Given the description of an element on the screen output the (x, y) to click on. 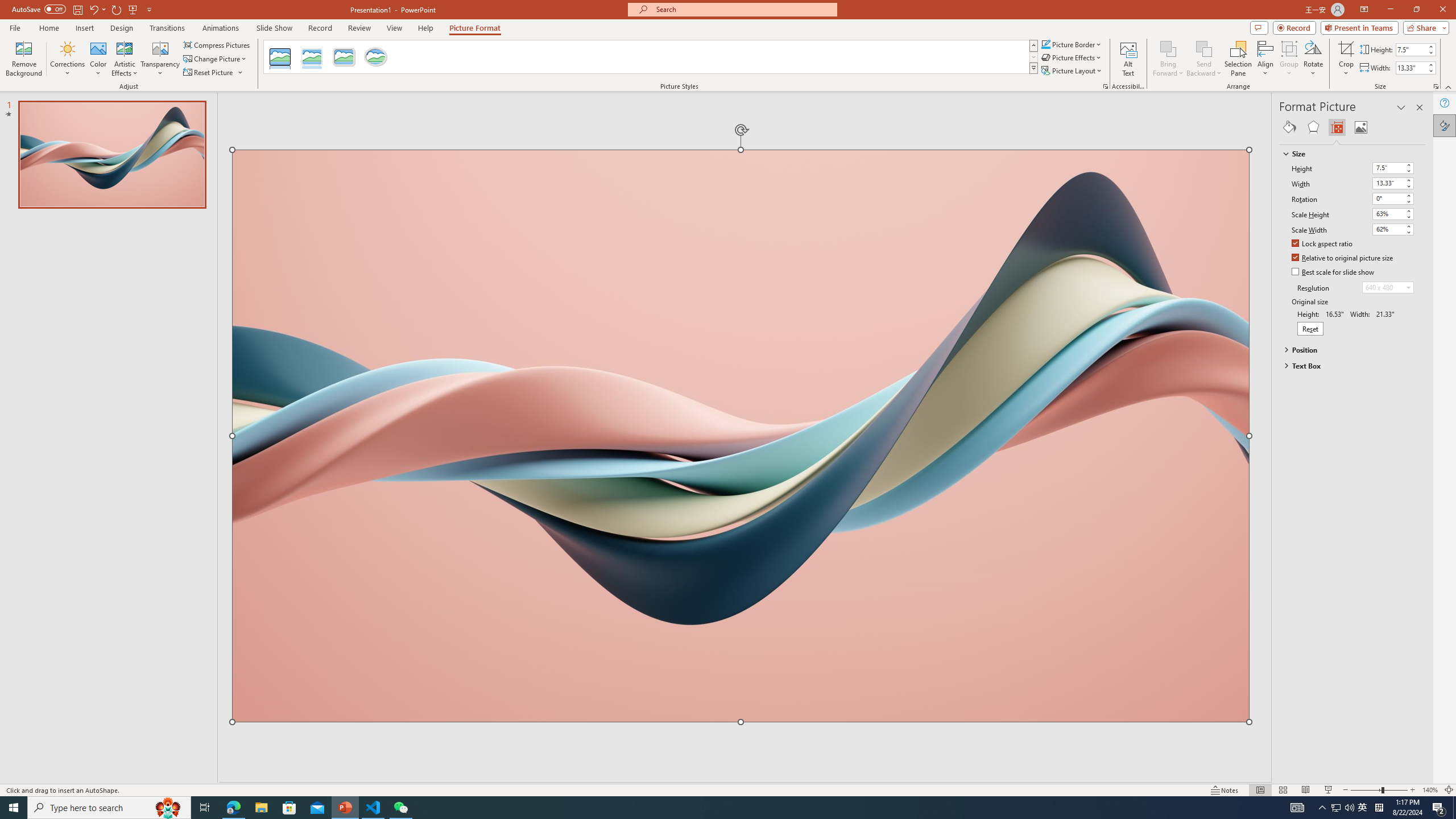
Picture Border (1071, 44)
Send Backward (1204, 48)
Selection Pane... (1238, 58)
Height (1388, 167)
Position (1347, 349)
Class: NetUIGalleryContainer (1352, 126)
Scale Height (1393, 214)
Color (97, 58)
